Given the description of an element on the screen output the (x, y) to click on. 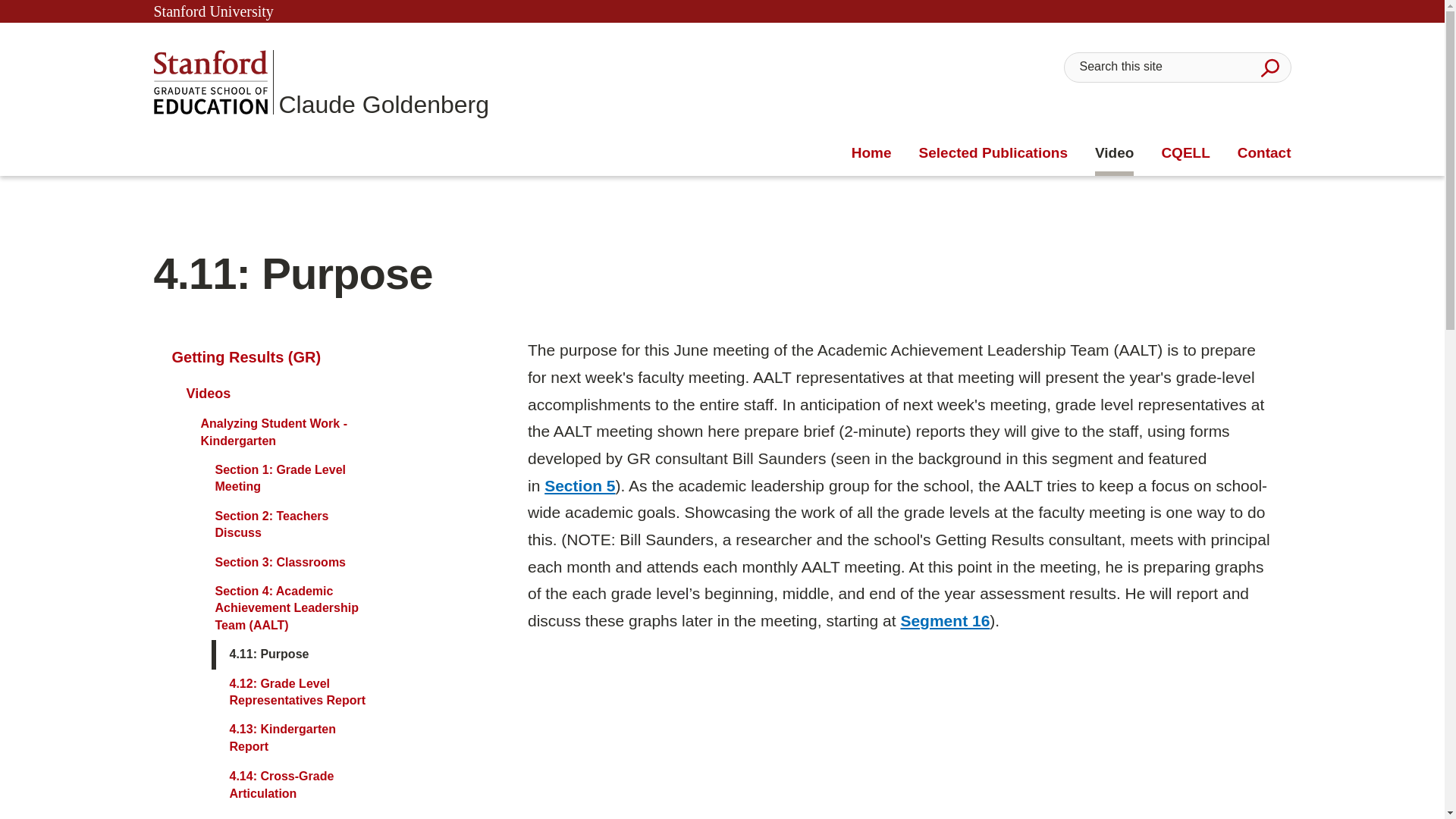
Claude Goldenberg (320, 81)
5.16: Year-Long Achievement Data (944, 620)
Home (871, 153)
Selected Publications (992, 153)
Section 5: The GR Consultant (579, 485)
Submit Search (1269, 67)
Section 4:11 AALT: Purpose (899, 741)
